Given the description of an element on the screen output the (x, y) to click on. 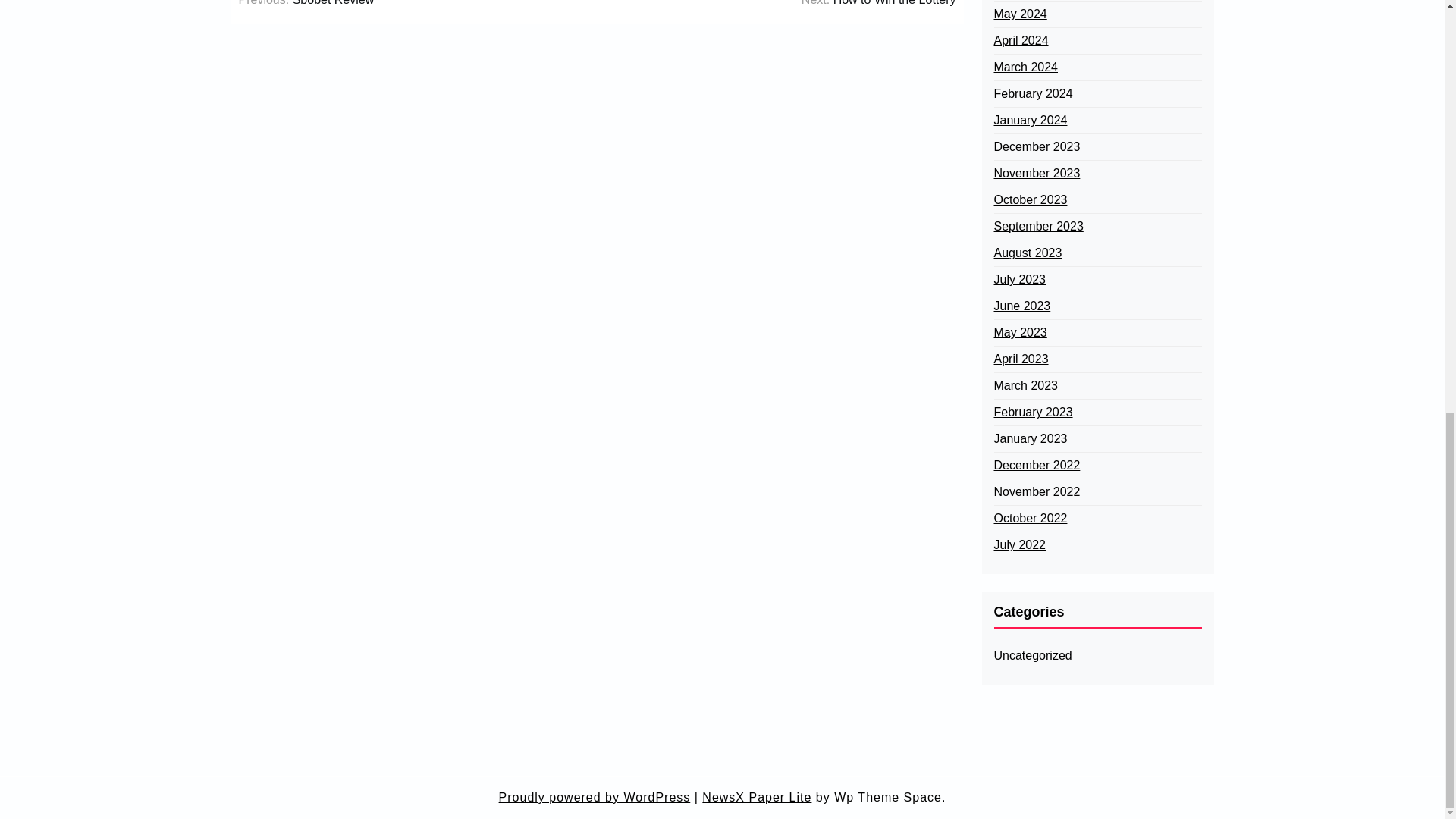
February 2024 (1031, 94)
August 2023 (1026, 253)
May 2023 (1019, 332)
February 2023 (1031, 412)
January 2024 (1029, 120)
December 2023 (1036, 147)
March 2024 (1025, 67)
March 2023 (1025, 385)
October 2023 (1029, 199)
Next: How to Win the Lottery (879, 4)
December 2022 (1036, 465)
November 2022 (1036, 492)
April 2023 (1020, 359)
April 2024 (1020, 40)
November 2023 (1036, 173)
